Given the description of an element on the screen output the (x, y) to click on. 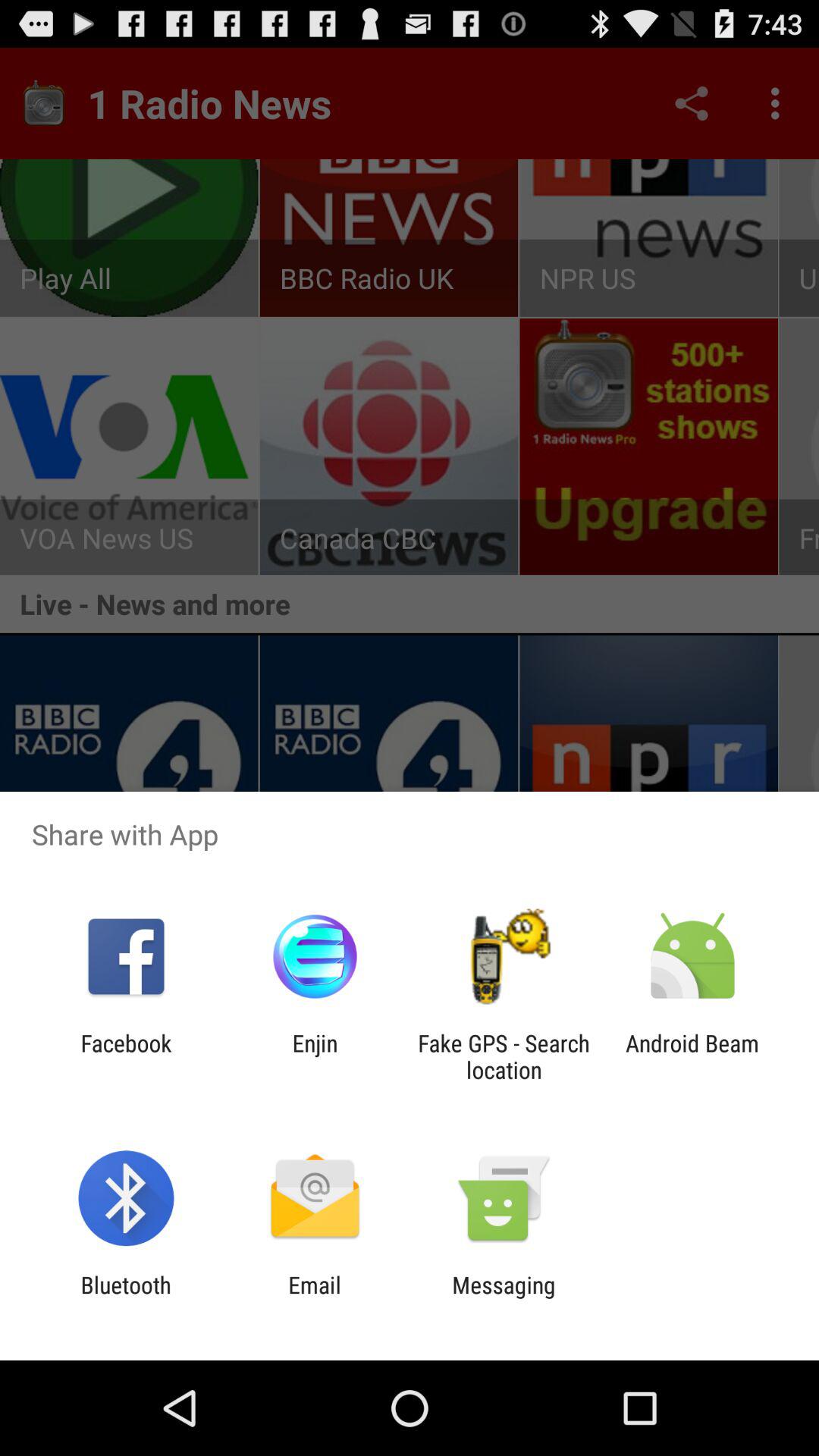
tap the bluetooth app (125, 1298)
